Given the description of an element on the screen output the (x, y) to click on. 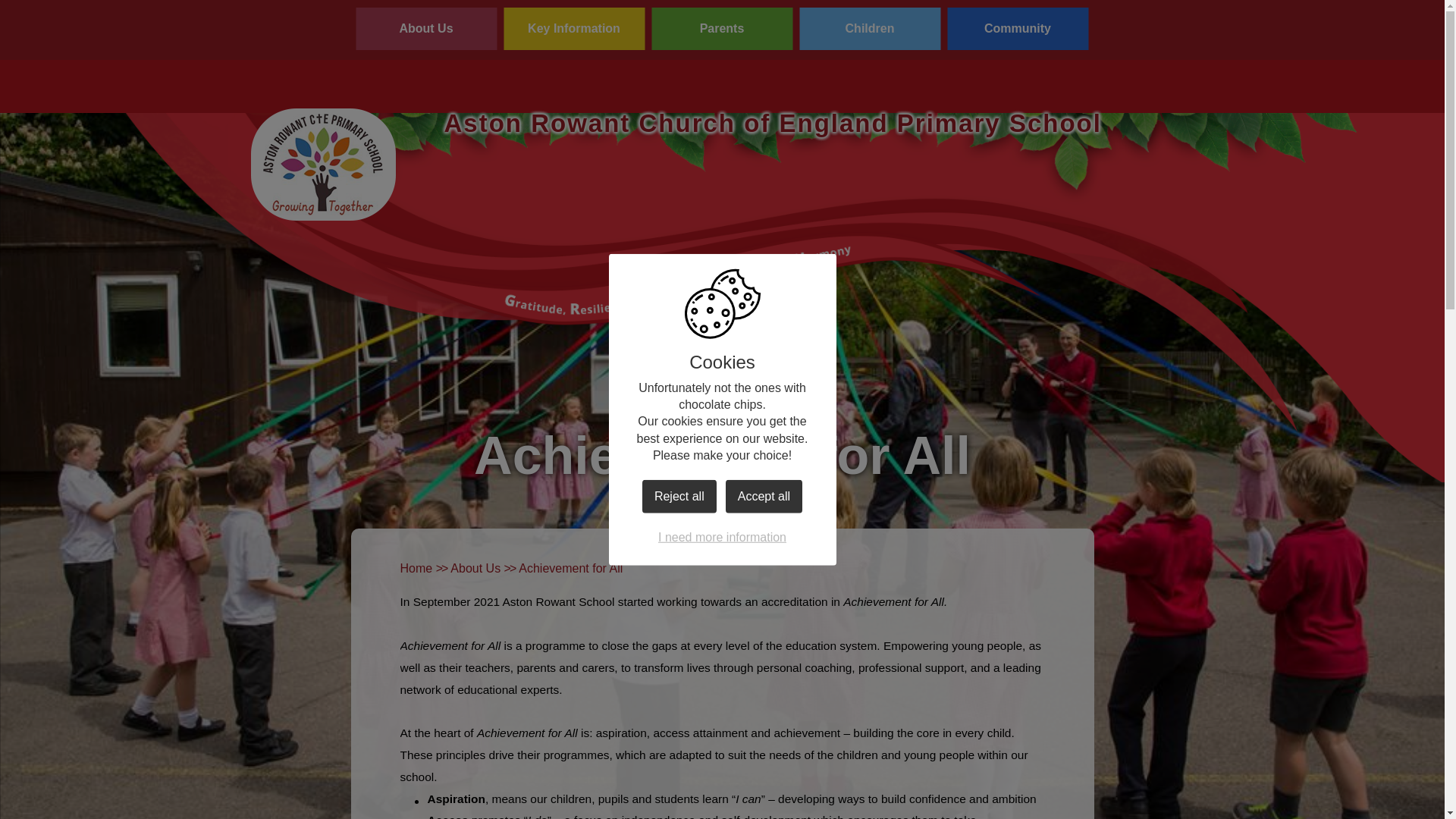
About Us (425, 28)
Home Page (322, 164)
Key Information (574, 28)
